Given the description of an element on the screen output the (x, y) to click on. 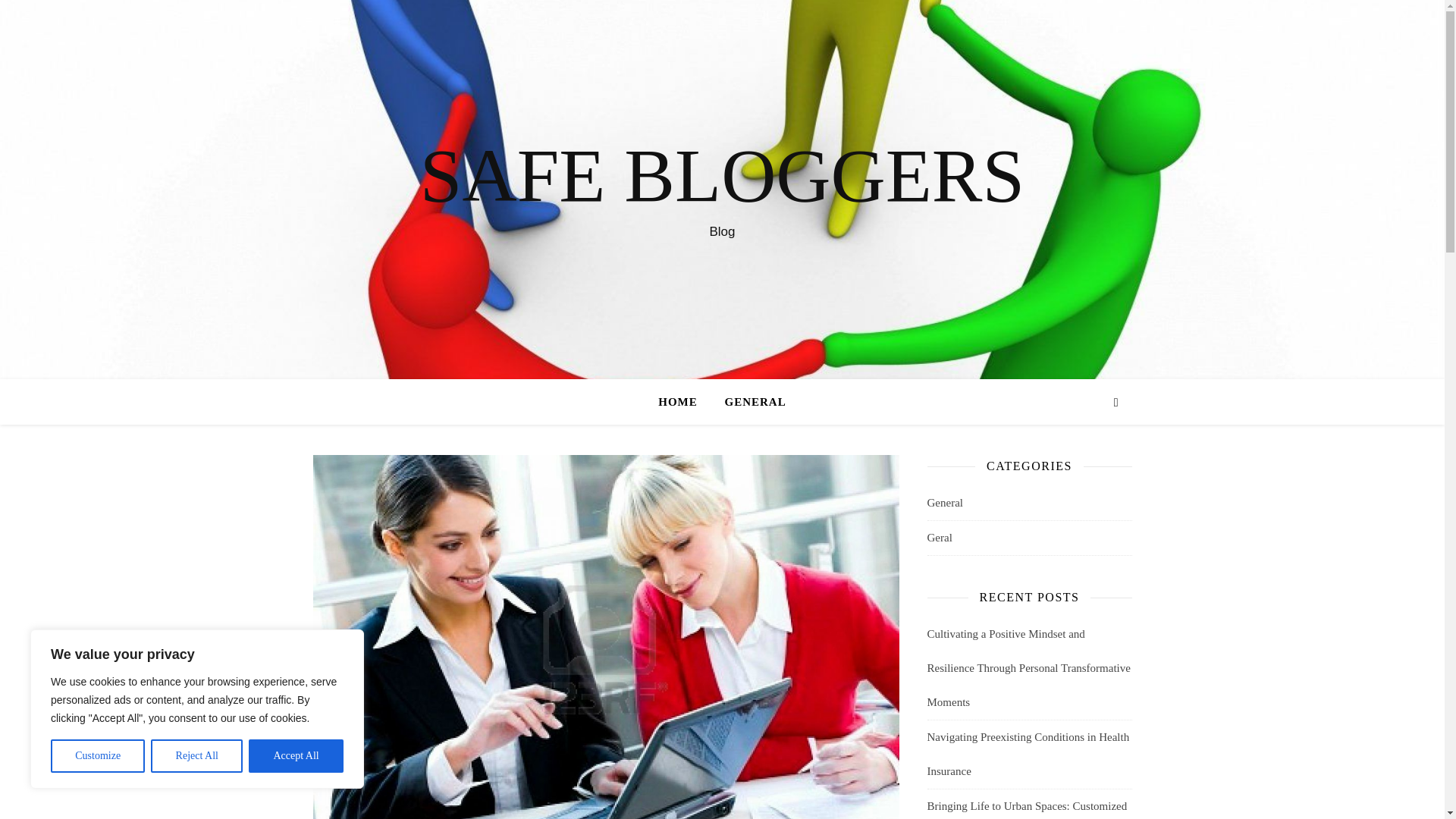
GENERAL (749, 402)
HOME (684, 402)
Accept All (295, 756)
Customize (97, 756)
General (944, 503)
Reject All (197, 756)
